Given the description of an element on the screen output the (x, y) to click on. 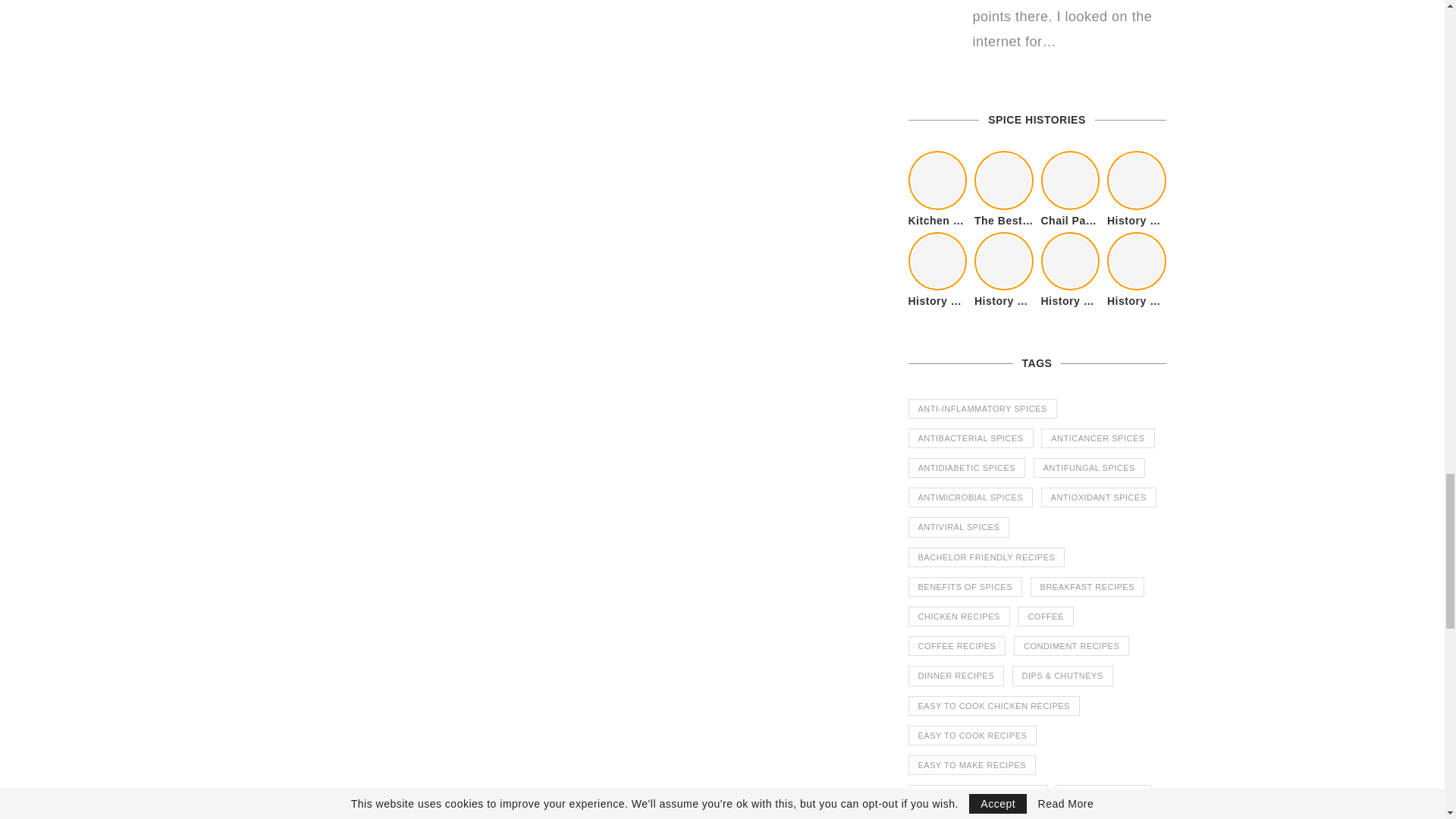
The Best Kitchen Essentials List for Anyone Who Cooks (1003, 220)
The Best Kitchen Essentials List for Anyone Who Cooks (1003, 180)
